Given the description of an element on the screen output the (x, y) to click on. 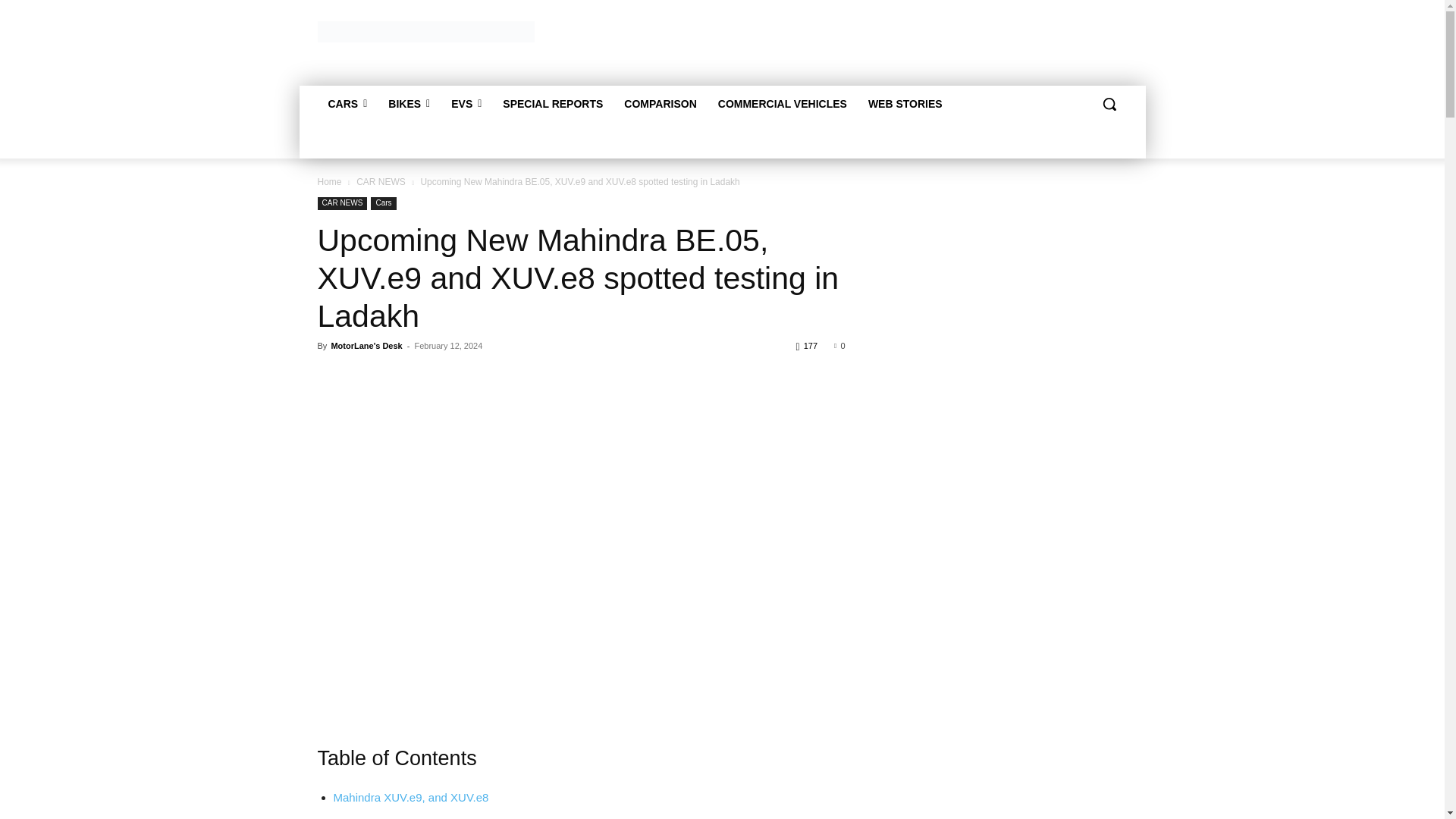
MotorLane (425, 31)
View all posts in CAR NEWS (381, 181)
CARS (347, 103)
BIKES (409, 103)
